Given the description of an element on the screen output the (x, y) to click on. 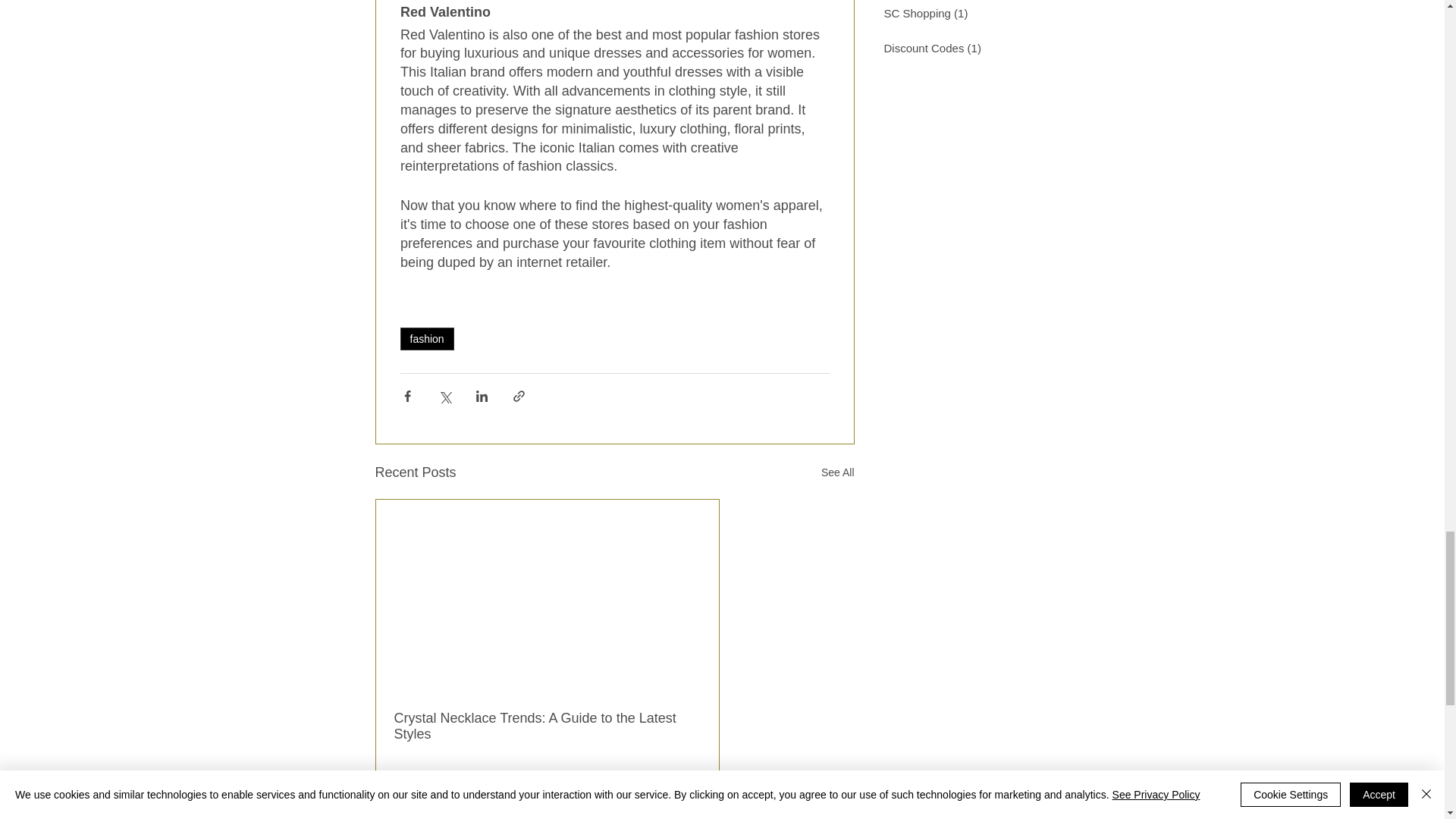
fashion (427, 338)
Crystal Necklace Trends: A Guide to the Latest Styles (547, 726)
See All (837, 472)
